Given the description of an element on the screen output the (x, y) to click on. 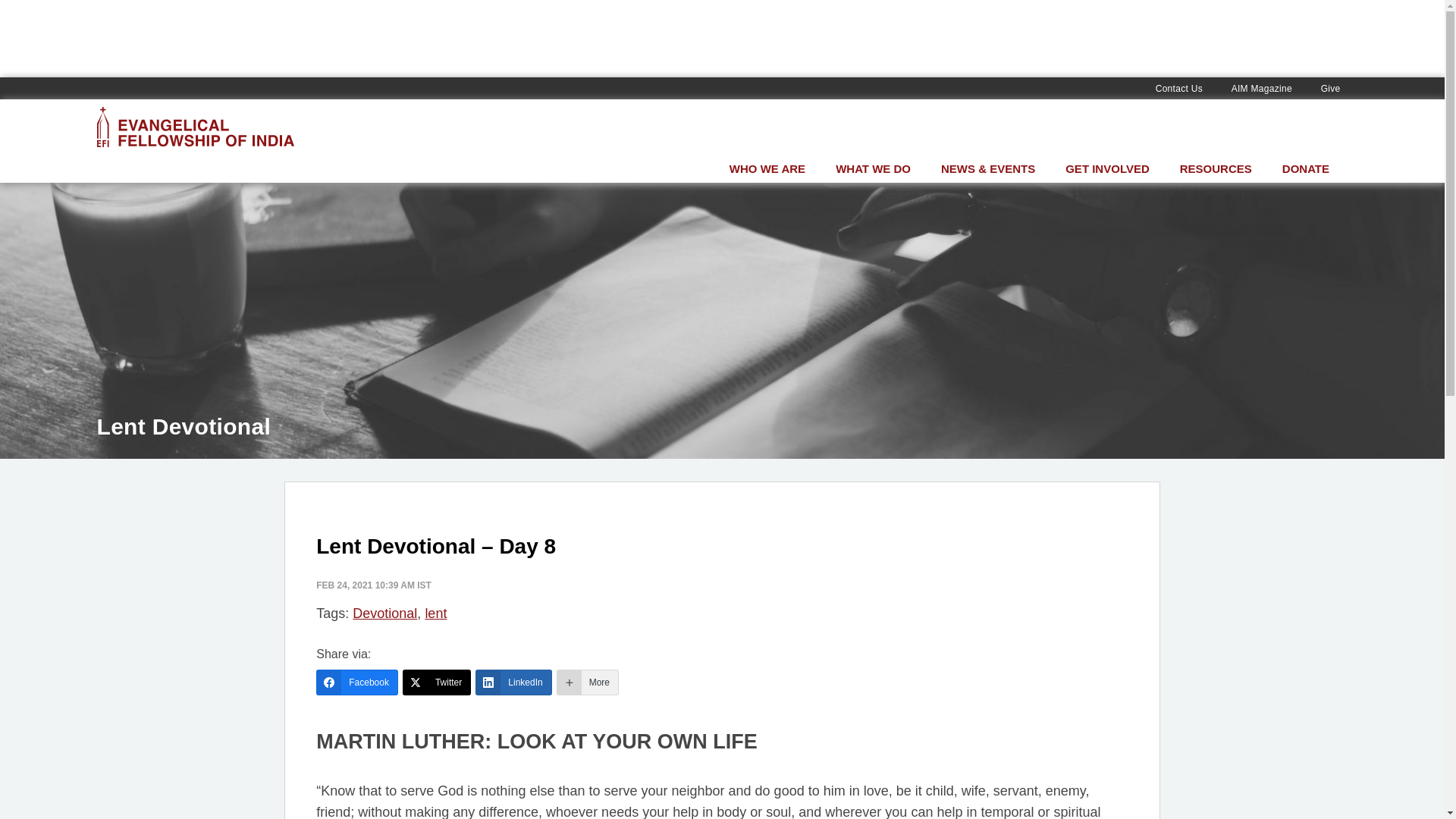
AIM Magazine (1262, 88)
GET INVOLVED (1106, 168)
Contact Us (1178, 88)
WHO WE ARE (767, 168)
WHAT WE DO (873, 168)
Give (1330, 88)
RESOURCES (1215, 168)
